Given the description of an element on the screen output the (x, y) to click on. 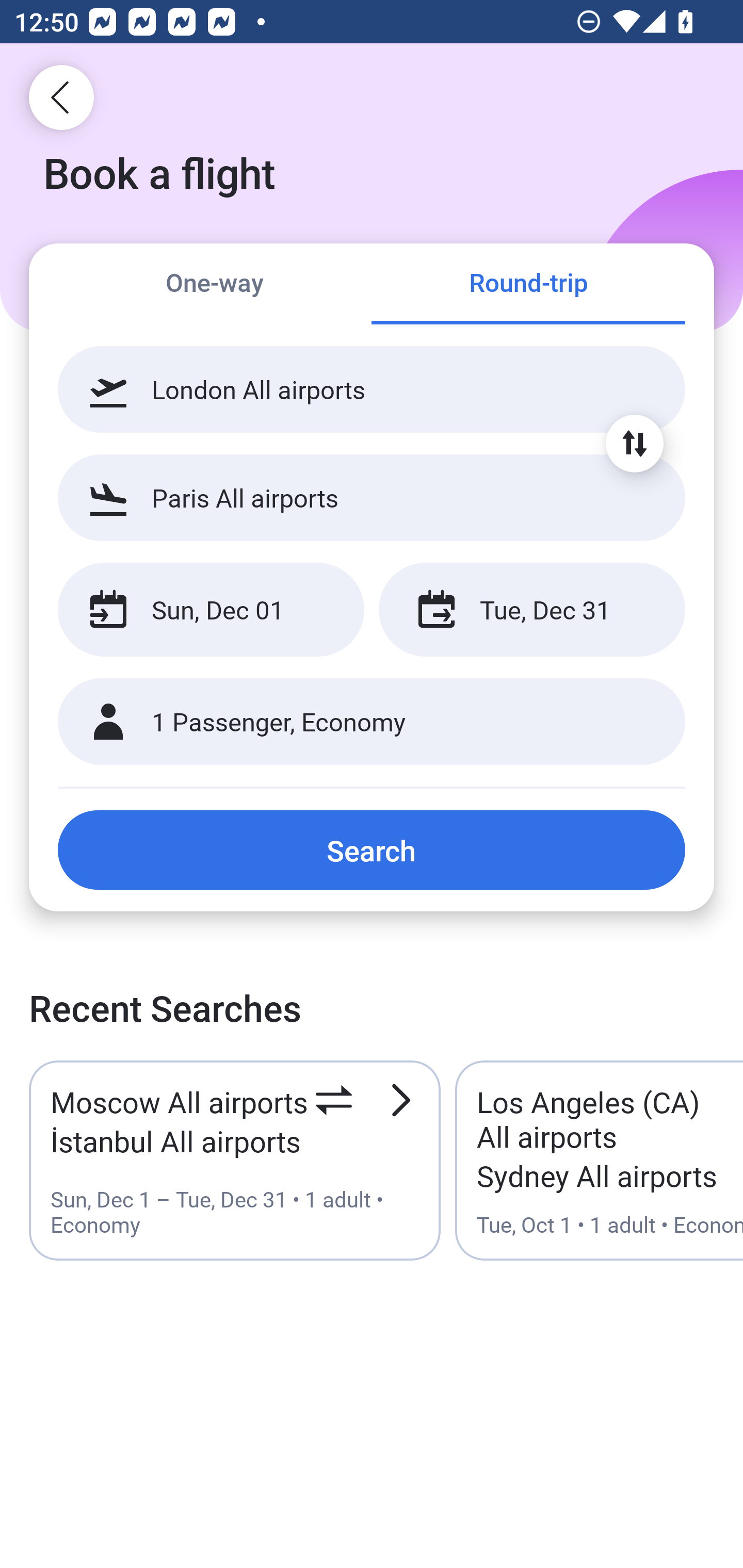
One-way (214, 284)
London All airports (371, 389)
Paris All airports (371, 497)
Sun, Dec 01 (210, 609)
Tue, Dec 31 (531, 609)
1 Passenger, Economy (371, 721)
Search (371, 849)
